Given the description of an element on the screen output the (x, y) to click on. 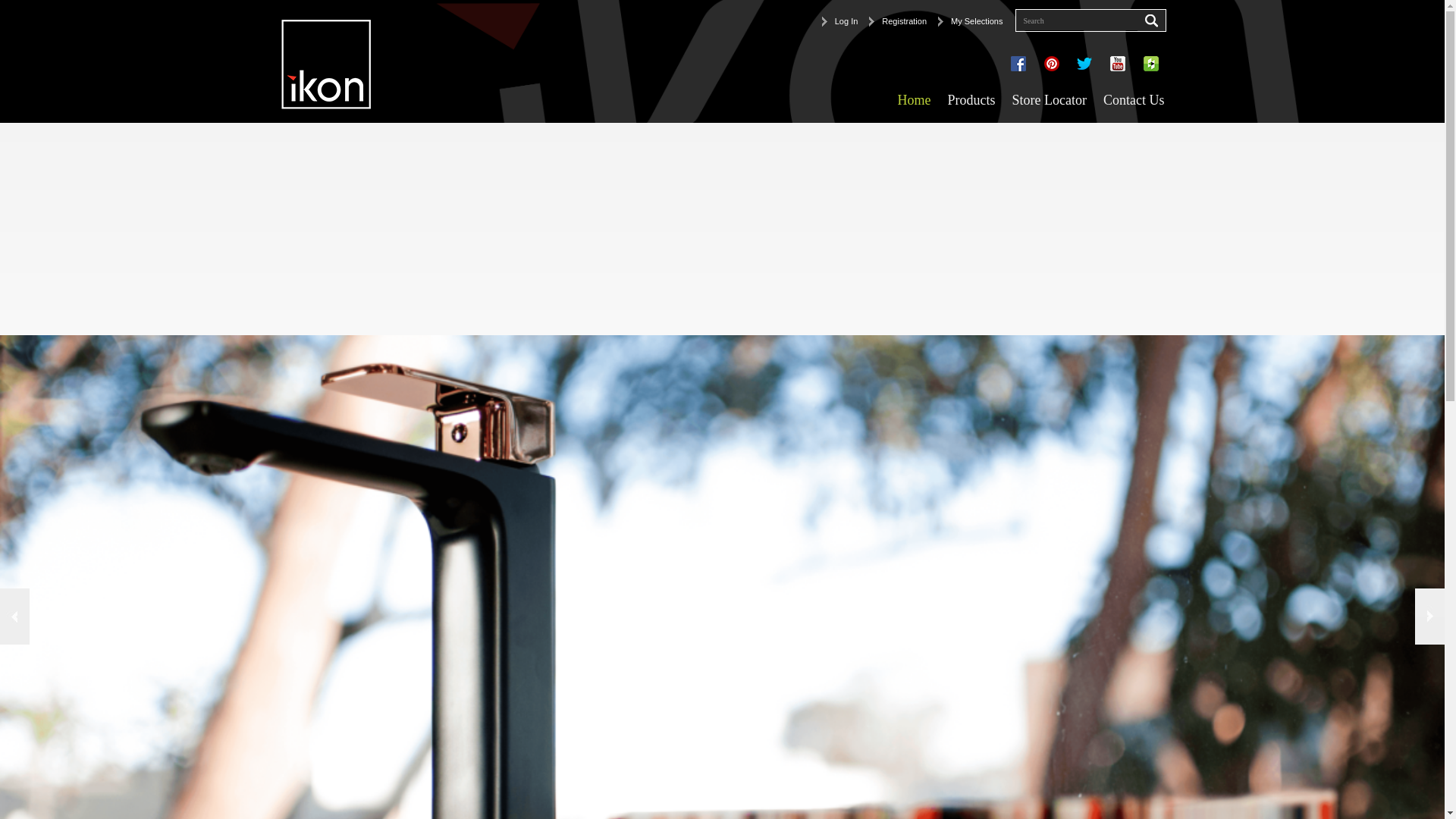
Advertisement Element type: hover (455, 228)
Contact Us Element type: text (1134, 100)
My Selections Element type: text (970, 20)
Log In Element type: text (840, 20)
Products Element type: text (970, 100)
Store Locator Element type: text (1049, 100)
Registration Element type: text (897, 20)
Go Element type: text (1151, 20)
Home Element type: text (913, 100)
